Given the description of an element on the screen output the (x, y) to click on. 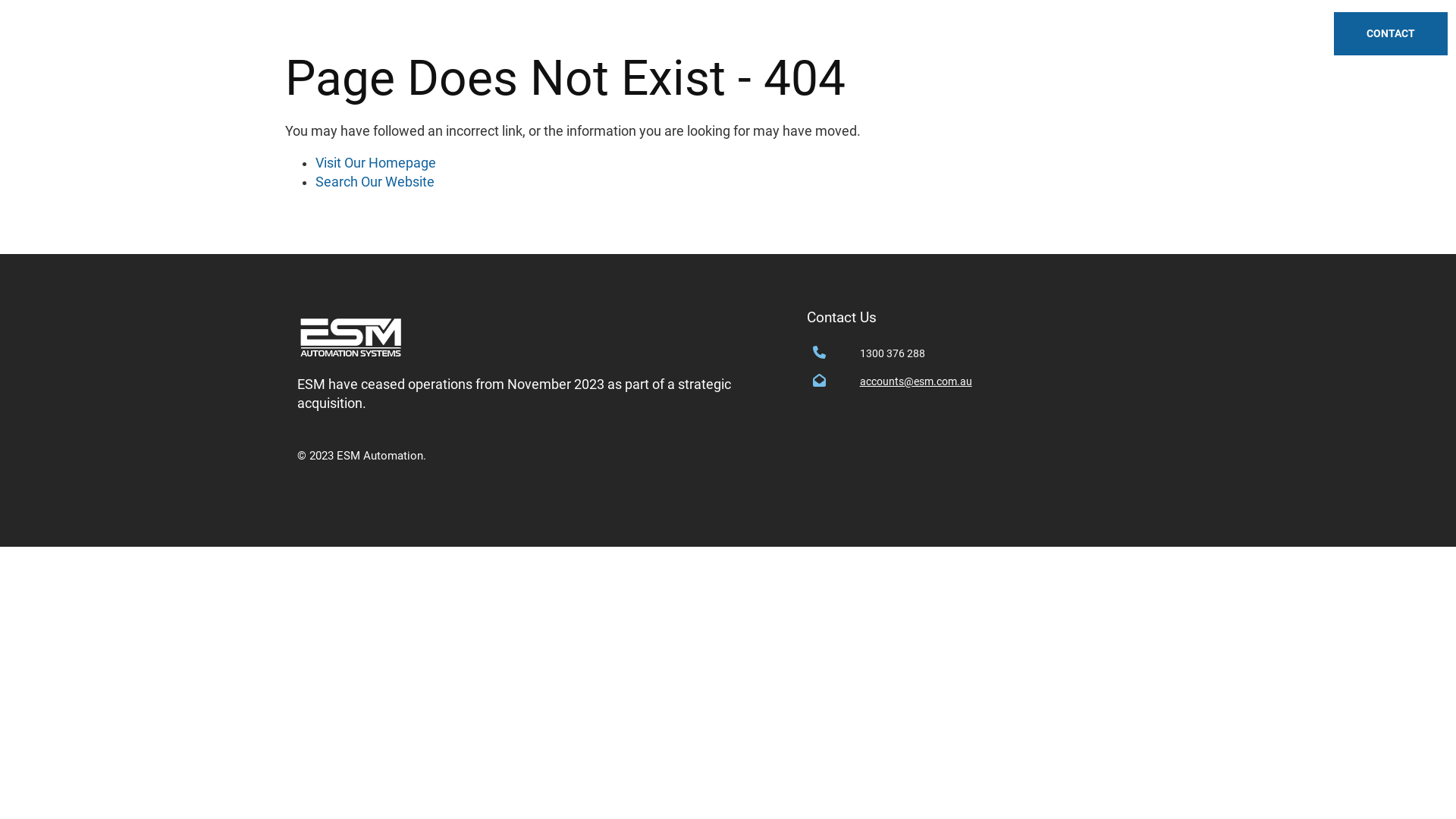
accounts@esm.com.au Element type: text (1008, 381)
Visit Our Homepage Element type: text (375, 162)
CONTACT Element type: text (1390, 35)
Search Our Website Element type: text (374, 181)
1300 376 288 Element type: text (1008, 353)
